Given the description of an element on the screen output the (x, y) to click on. 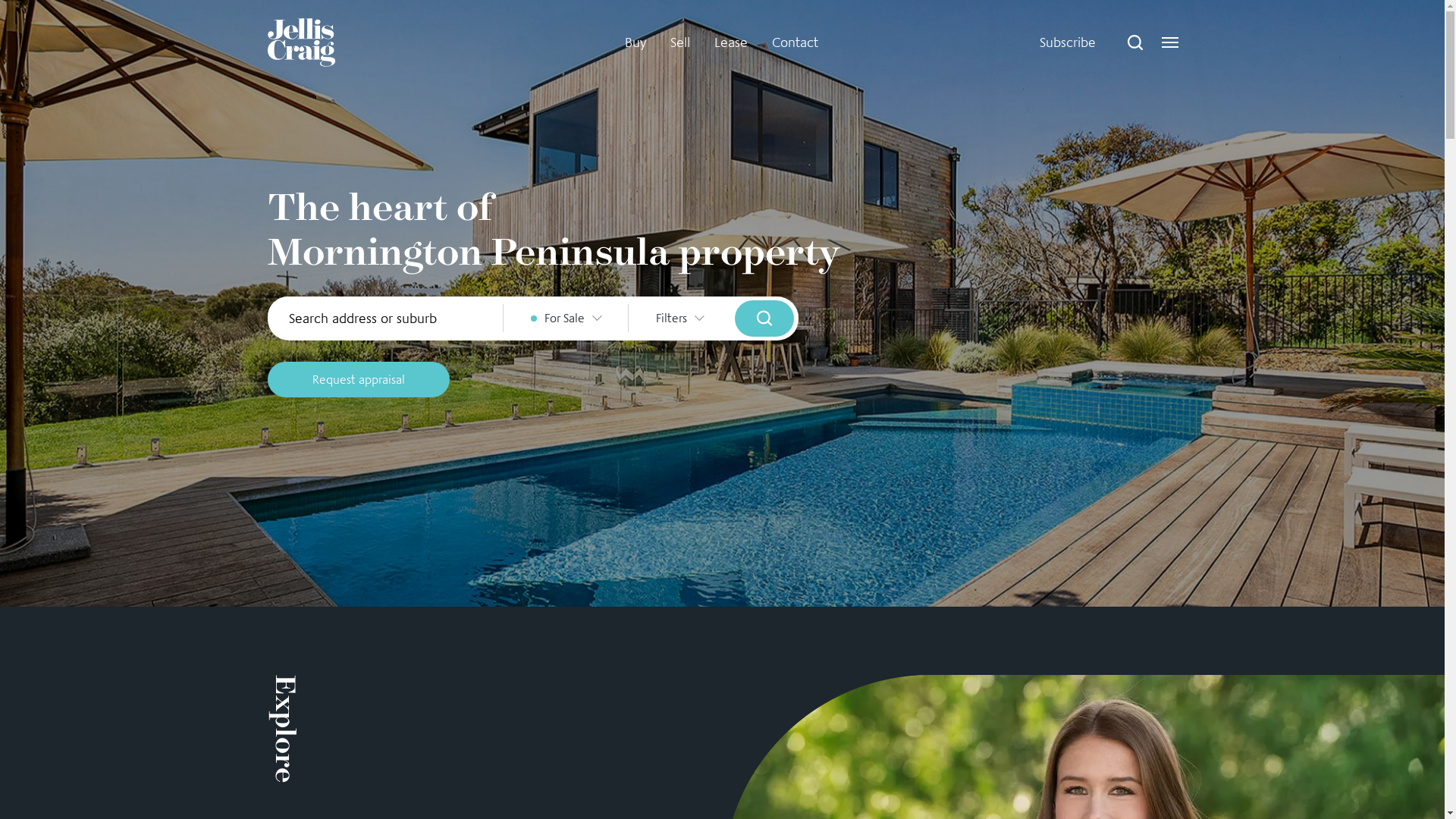
Subscribe Element type: text (1066, 41)
Request appraisal Element type: text (357, 379)
Buy Element type: text (635, 41)
Sell Element type: text (680, 41)
For Sale Element type: text (565, 318)
Lease Element type: text (730, 41)
Contact Element type: text (794, 41)
Filters Element type: text (678, 318)
